Given the description of an element on the screen output the (x, y) to click on. 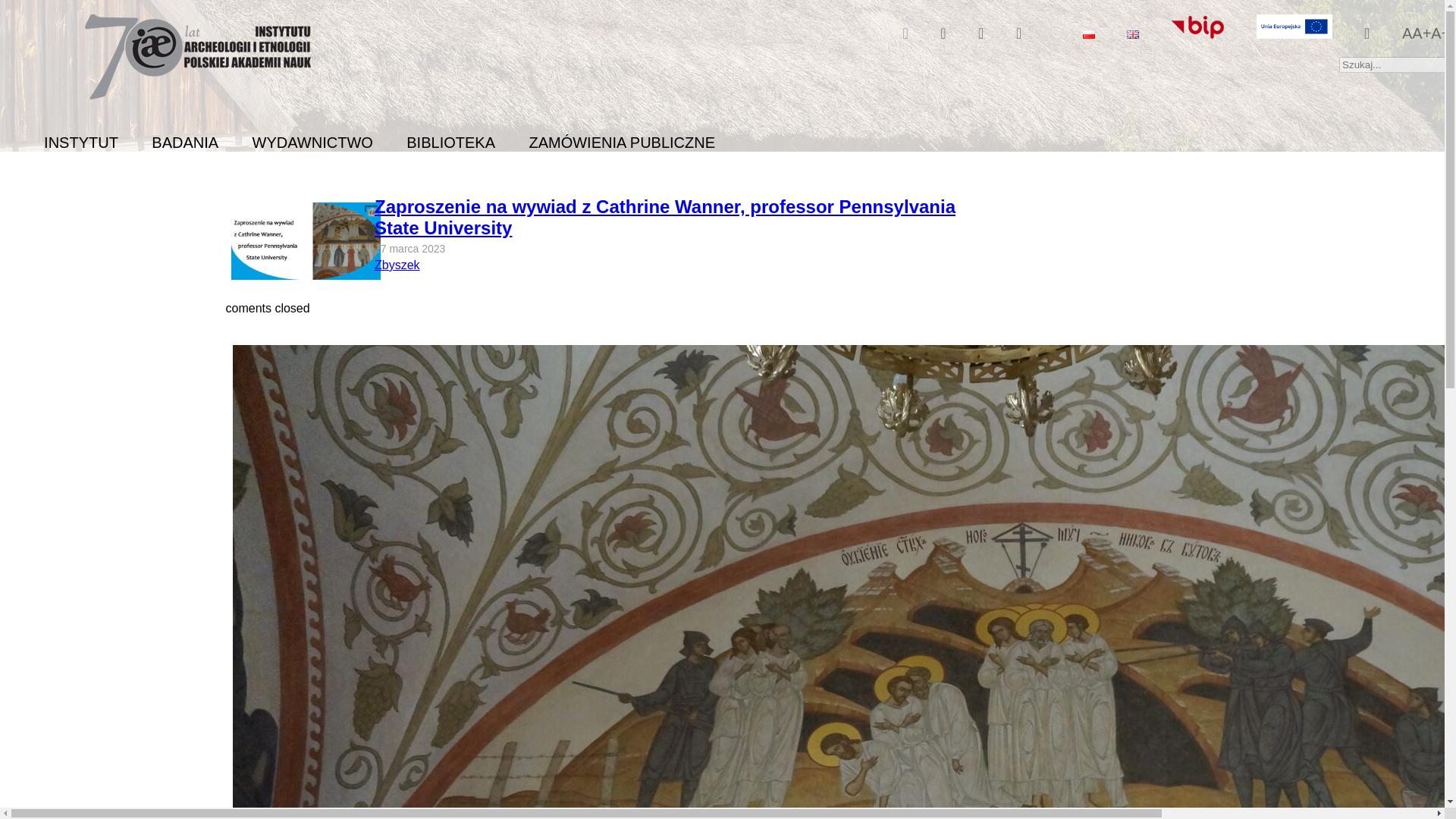
Szukaj (21, 7)
INSTYTUT (80, 142)
UE (1294, 33)
BADANIA (184, 142)
WYDAWNICTWO (311, 142)
BIBLIOTEKA (450, 142)
Wpisy od Zbyszek (397, 264)
